Given the description of an element on the screen output the (x, y) to click on. 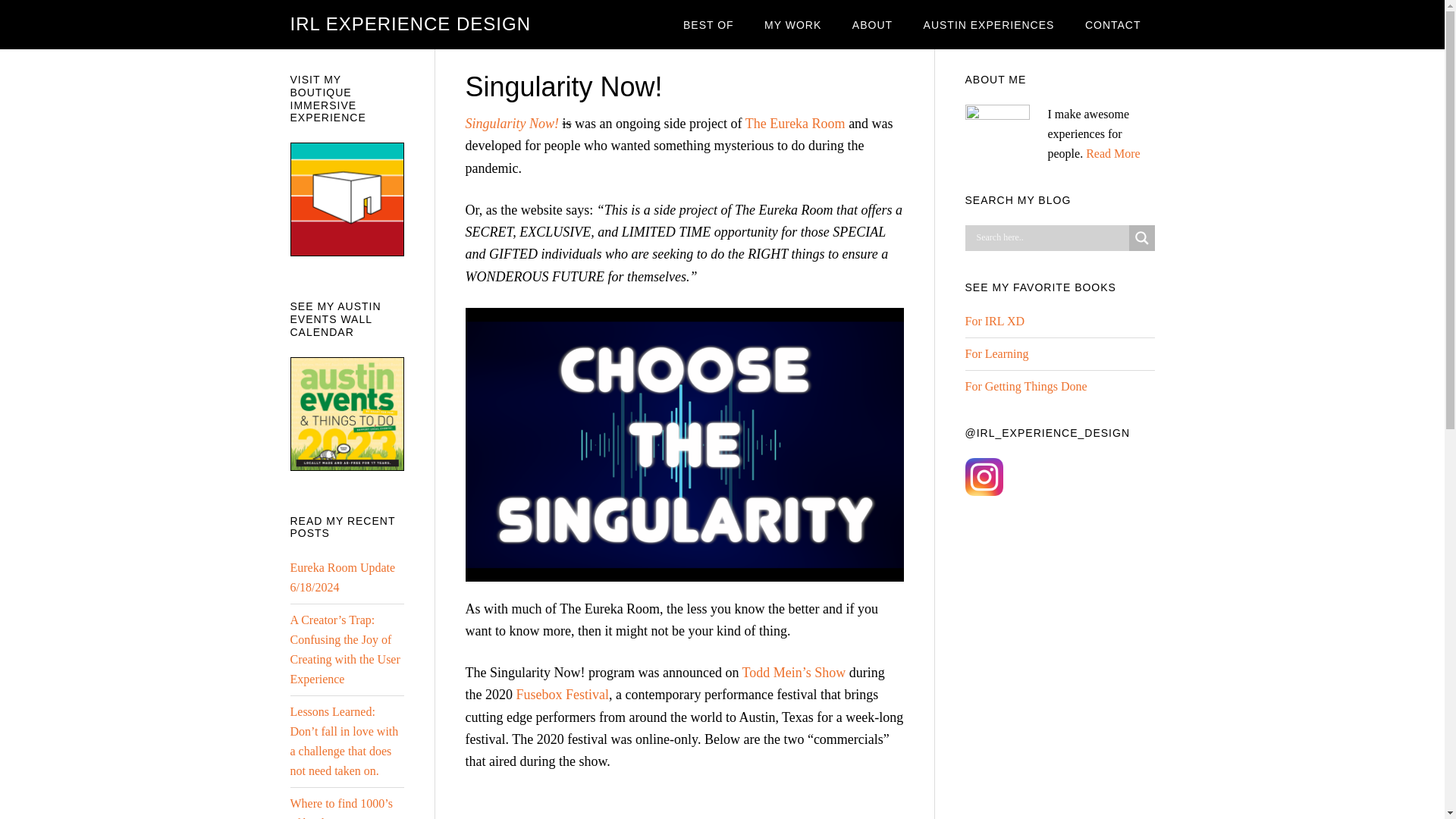
ABOUT (871, 24)
Read More (1113, 153)
IRL EXPERIENCE DESIGN (410, 23)
Fusebox Festival (561, 694)
BEST OF (708, 24)
Rabbits For Sale (654, 805)
CONTACT (1112, 24)
T (745, 672)
MY WORK (792, 24)
AUSTIN EXPERIENCES (989, 24)
The Eureka Room (795, 123)
For IRL XD (994, 320)
For Getting Things Done (1024, 386)
For Learning (995, 353)
